Given the description of an element on the screen output the (x, y) to click on. 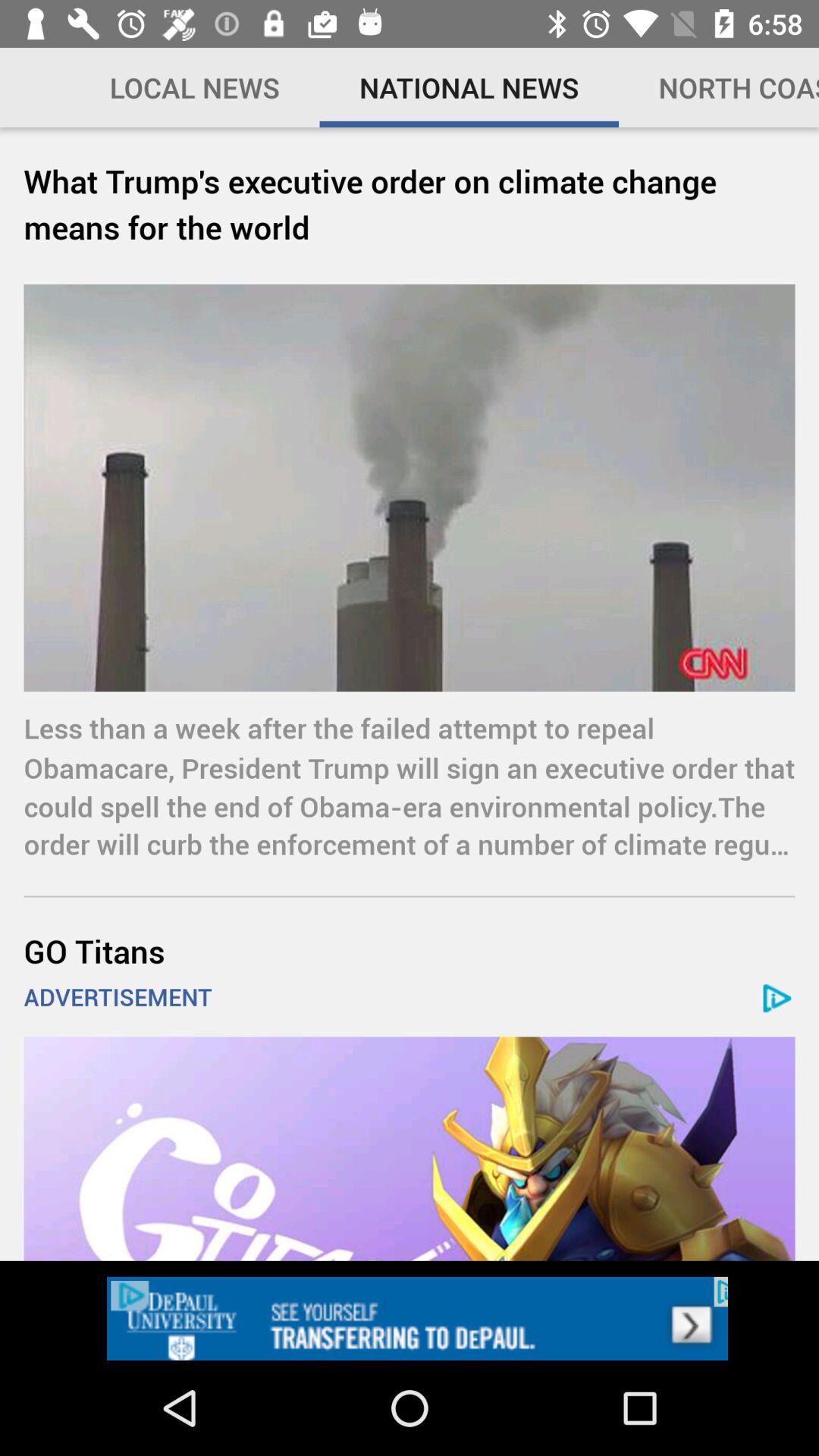
open an advertisements (409, 1148)
